Given the description of an element on the screen output the (x, y) to click on. 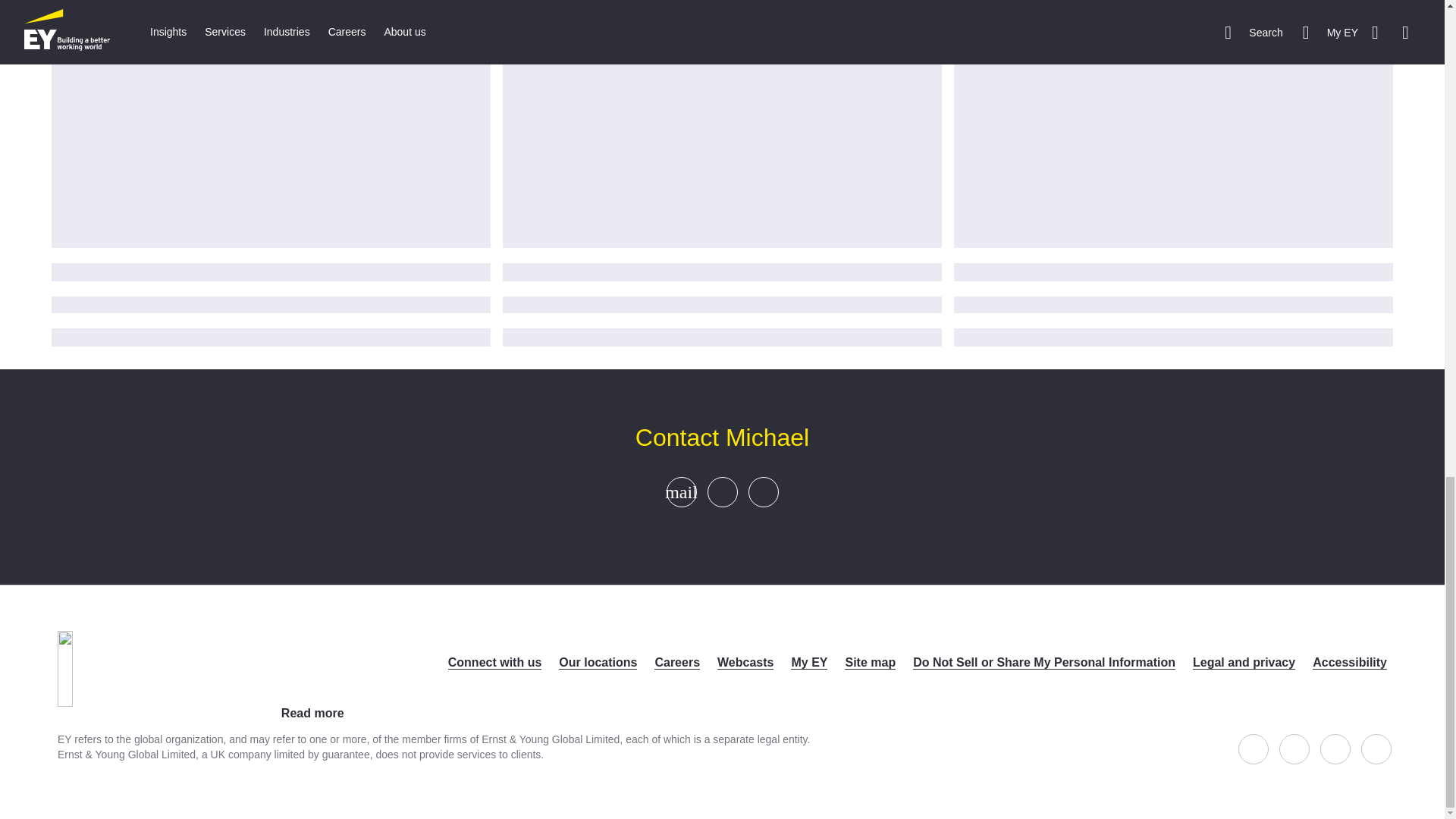
Open X profile (1294, 748)
Open Youtube profile (1376, 748)
Send e-mail to Michael Curtis (681, 492)
Open Twitter profile of Michael Curtis (721, 491)
Open LinkedIn profile (1335, 748)
Open LinkedIn profile of Michael Curtis (761, 491)
Open Facebook profile (1252, 748)
